Given the description of an element on the screen output the (x, y) to click on. 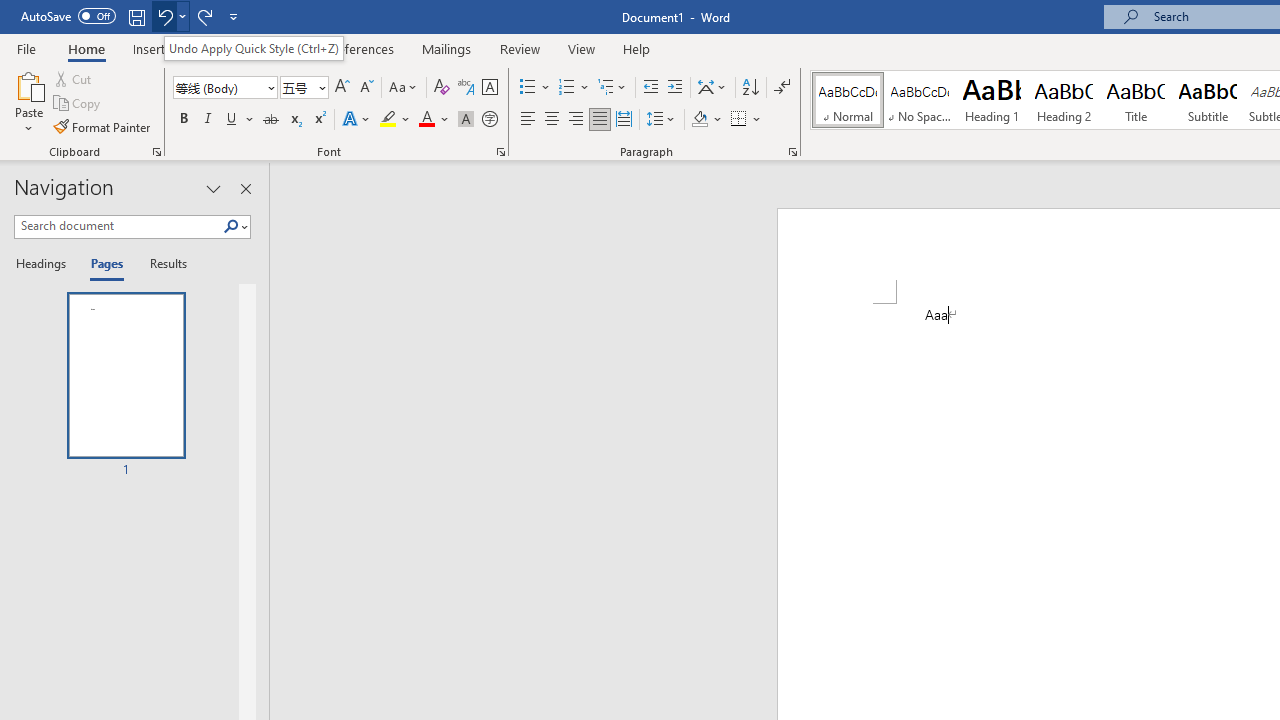
Undo Apply Quick Style (164, 15)
Heading 2 (1063, 100)
